Given the description of an element on the screen output the (x, y) to click on. 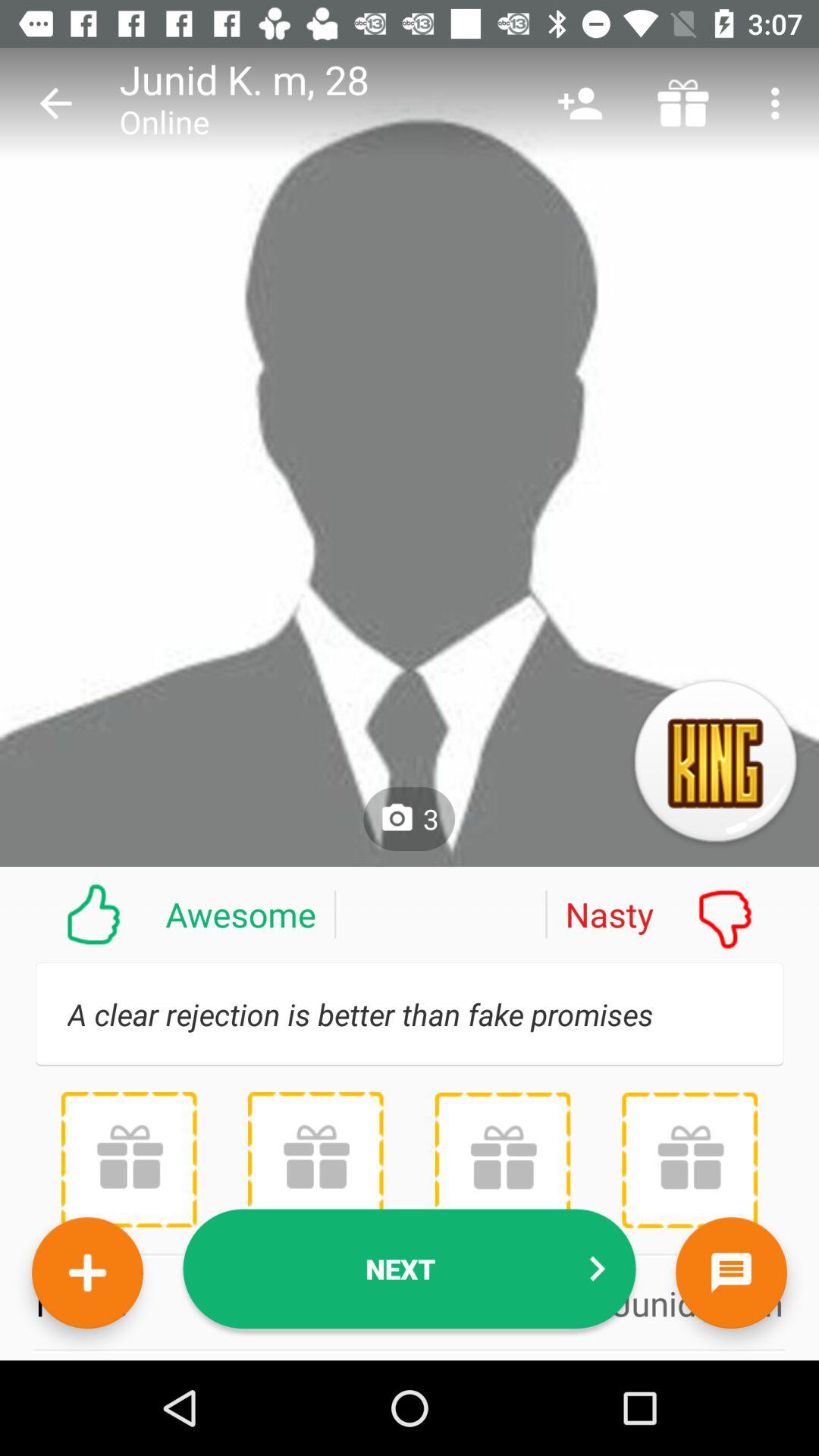
open the nasty icon (682, 914)
